Given the description of an element on the screen output the (x, y) to click on. 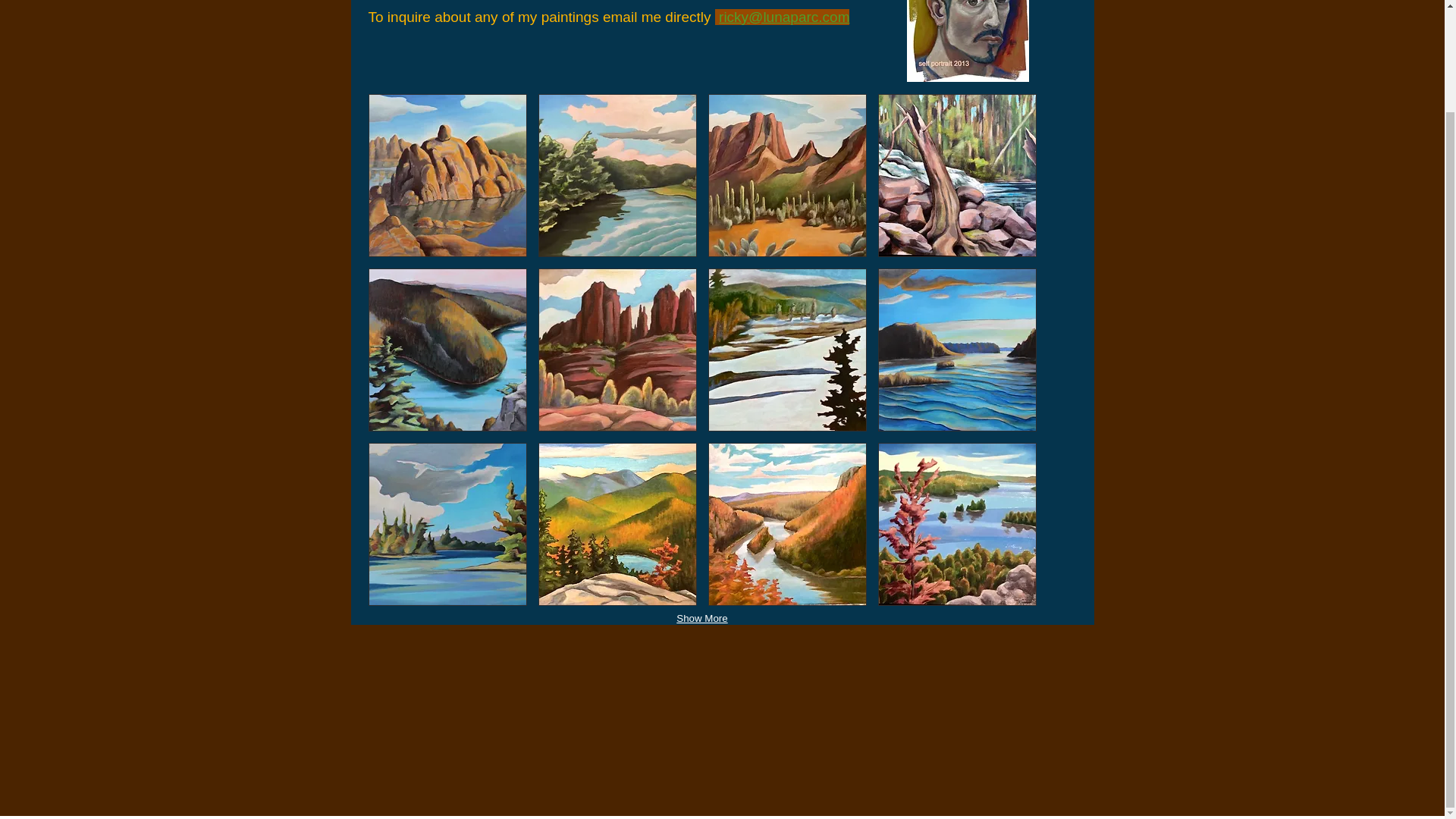
Show More (701, 618)
